Given the description of an element on the screen output the (x, y) to click on. 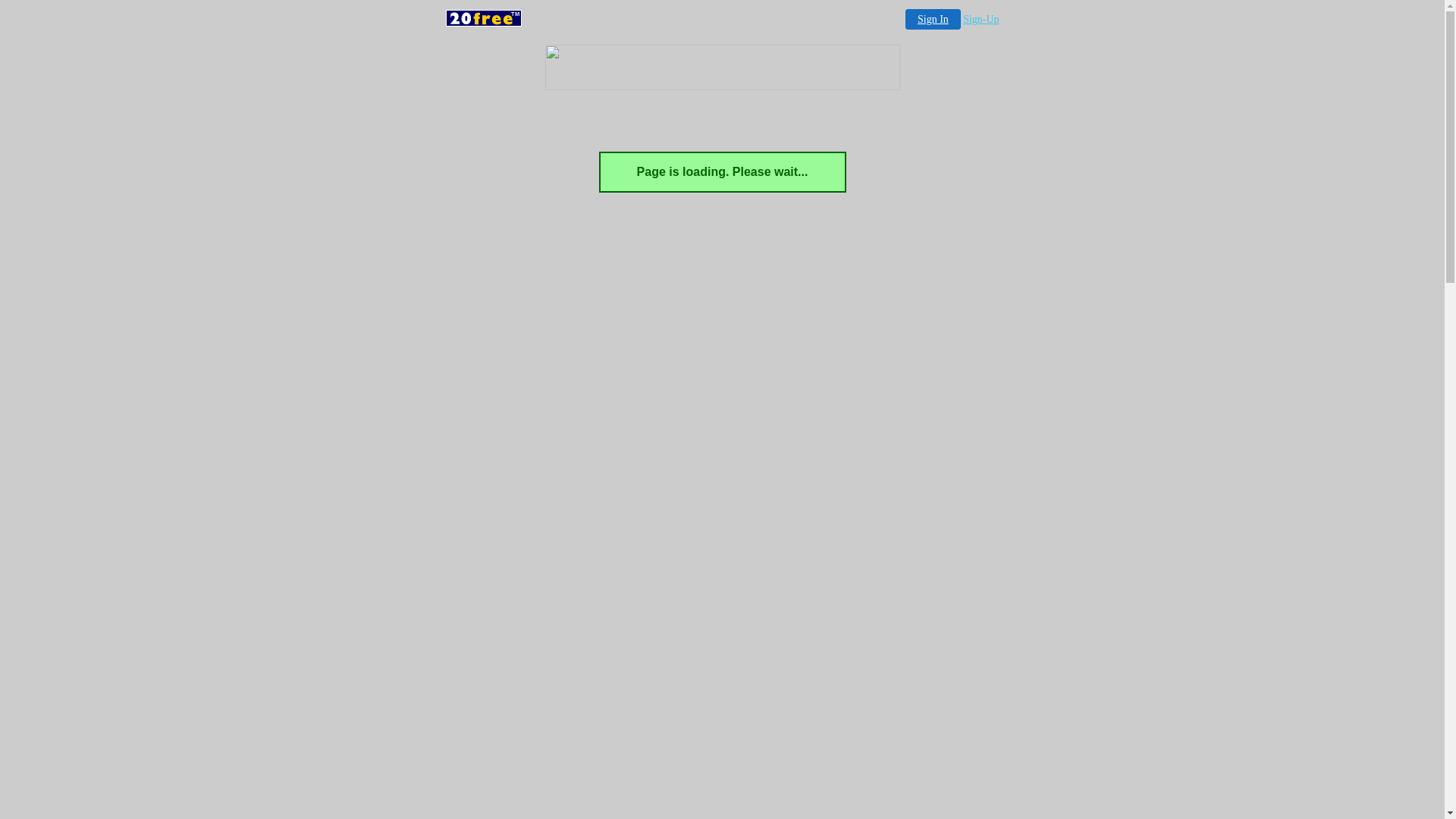
Sign In Element type: text (932, 19)
Sign-Up Element type: text (980, 19)
